Given the description of an element on the screen output the (x, y) to click on. 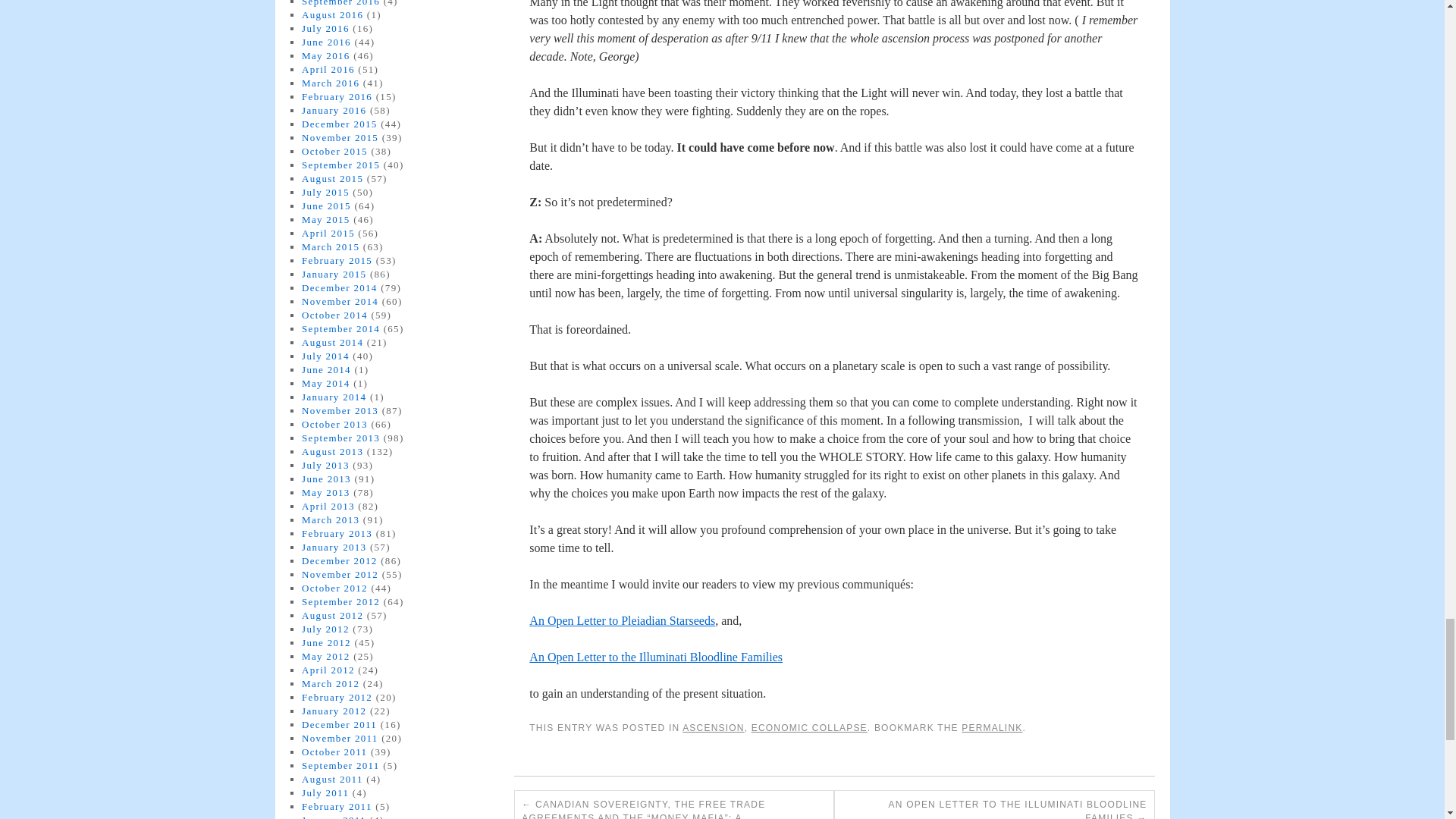
ECONOMIC COLLAPSE (809, 727)
An Open Letter to Pleiadian Starseeds (621, 620)
An Open Letter to the Illuminati Bloodline Families (656, 656)
ASCENSION (713, 727)
Permalink to Adamu on Brexit (991, 727)
PERMALINK (991, 727)
